Given the description of an element on the screen output the (x, y) to click on. 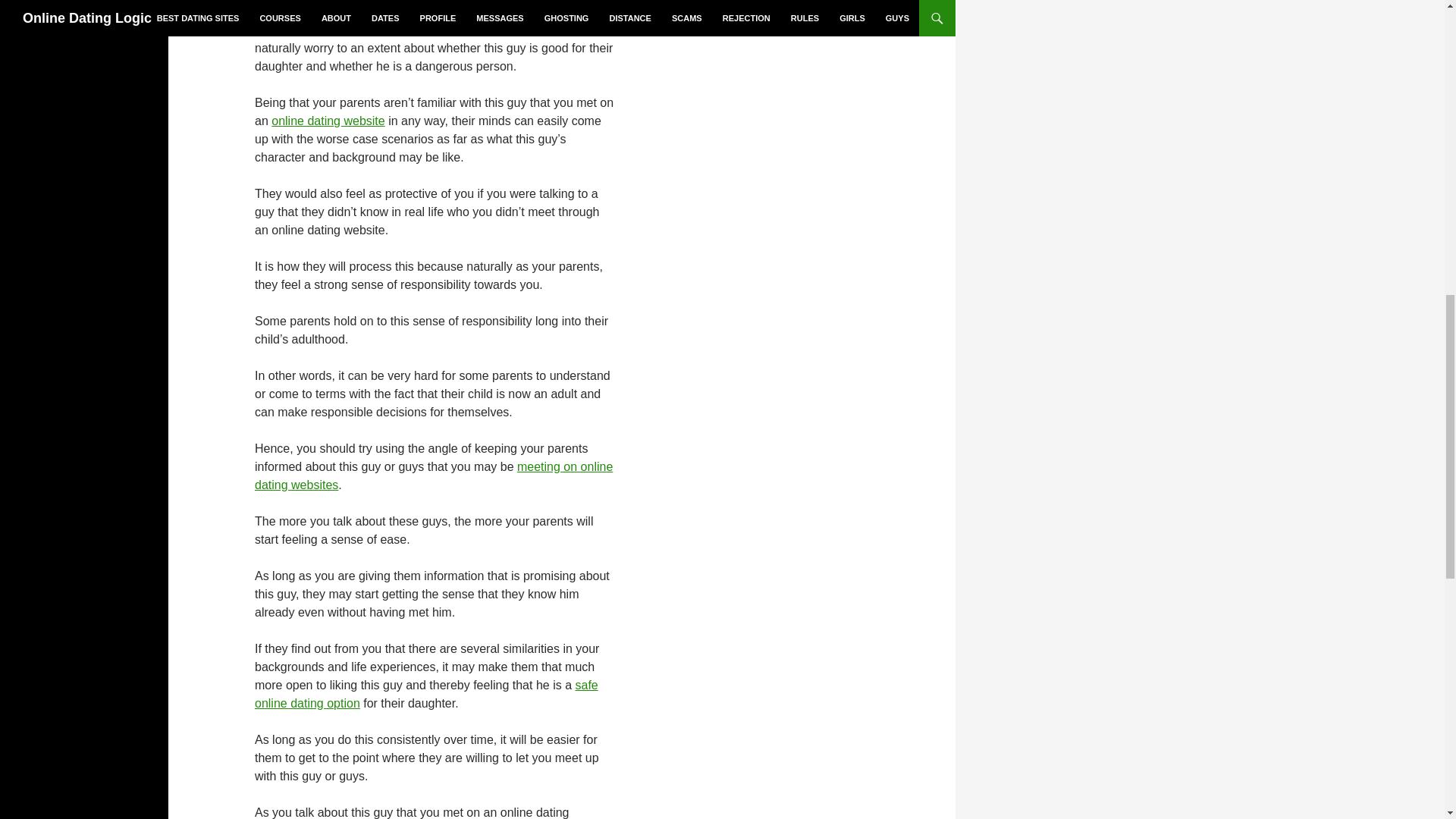
online dating website (327, 120)
meeting on online dating websites (433, 475)
safe online dating option (426, 694)
